Given the description of an element on the screen output the (x, y) to click on. 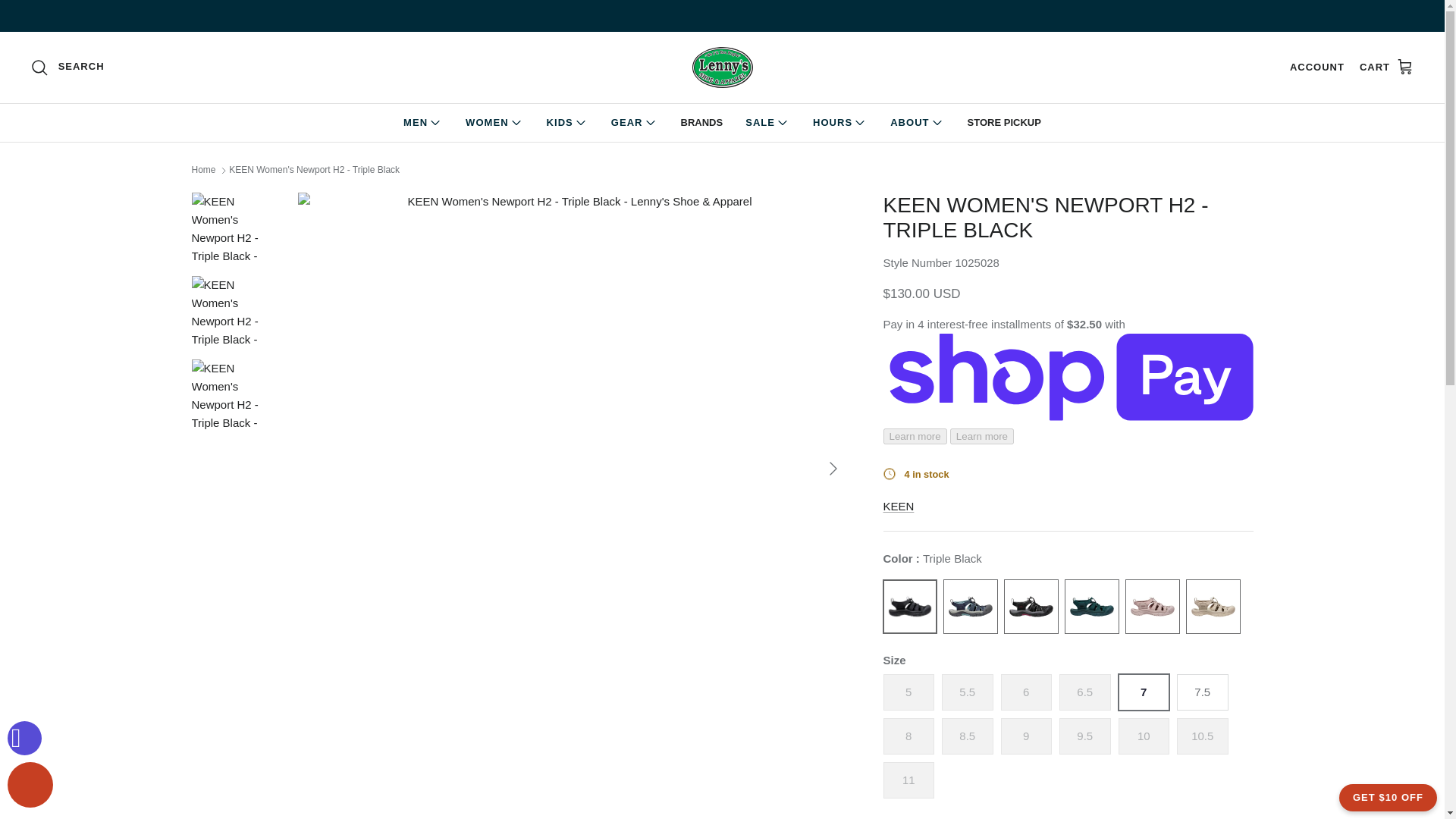
MEN (422, 122)
CART (1386, 66)
RIGHT (832, 468)
ACCOUNT (1316, 67)
SEARCH (67, 67)
Shopify online store chat (30, 786)
